Given the description of an element on the screen output the (x, y) to click on. 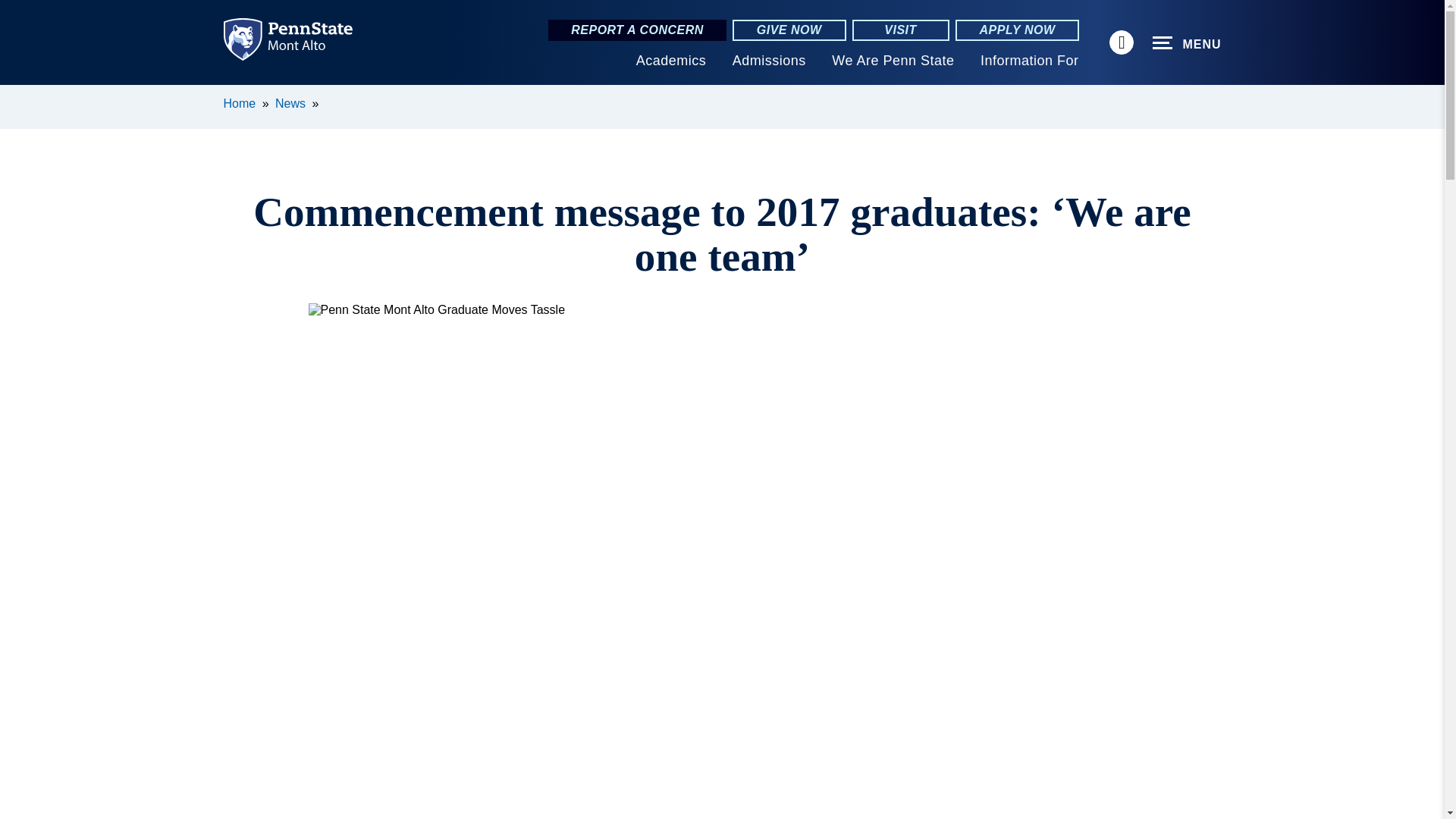
APPLY NOW (1017, 29)
SKIP TO MAIN CONTENT (19, 95)
VISIT (900, 29)
Information For (1028, 60)
REPORT A CONCERN (637, 29)
GIVE NOW (788, 29)
Academics (671, 60)
MENU (1187, 43)
We Are Penn State (892, 60)
